Given the description of an element on the screen output the (x, y) to click on. 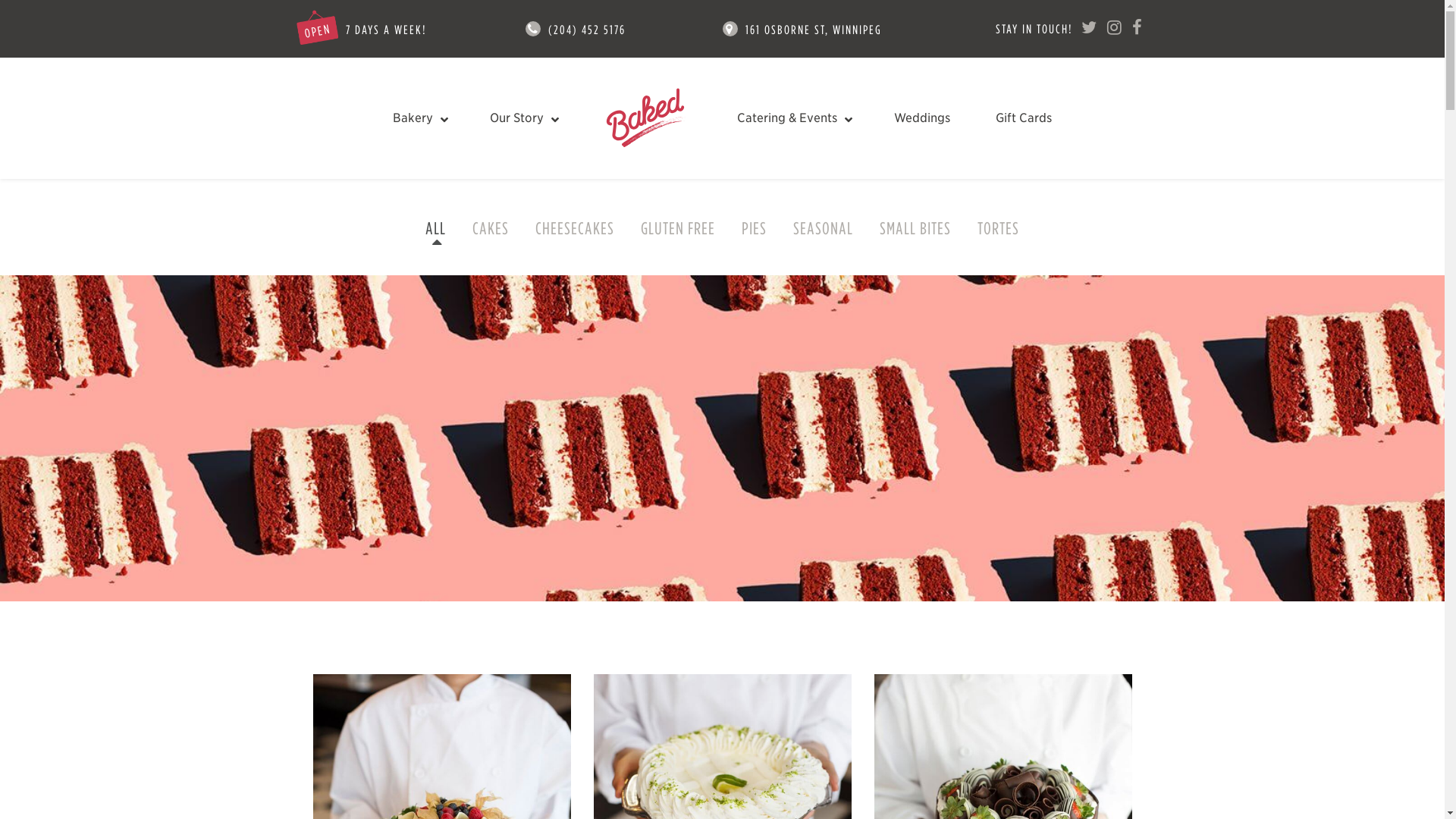
Our Story Element type: text (522, 118)
ALL Element type: text (435, 228)
CHEESECAKES Element type: text (574, 228)
SMALL BITES Element type: text (914, 228)
SEASONAL Element type: text (823, 228)
PIES Element type: text (753, 228)
Weddings Element type: text (921, 118)
(204) 452 5176 Element type: text (586, 29)
GLUTEN FREE Element type: text (677, 228)
TORTES Element type: text (998, 228)
CAKES Element type: text (490, 228)
Bakery Element type: text (418, 118)
Gift Cards Element type: text (1023, 118)
Catering & Events Element type: text (792, 118)
